Given the description of an element on the screen output the (x, y) to click on. 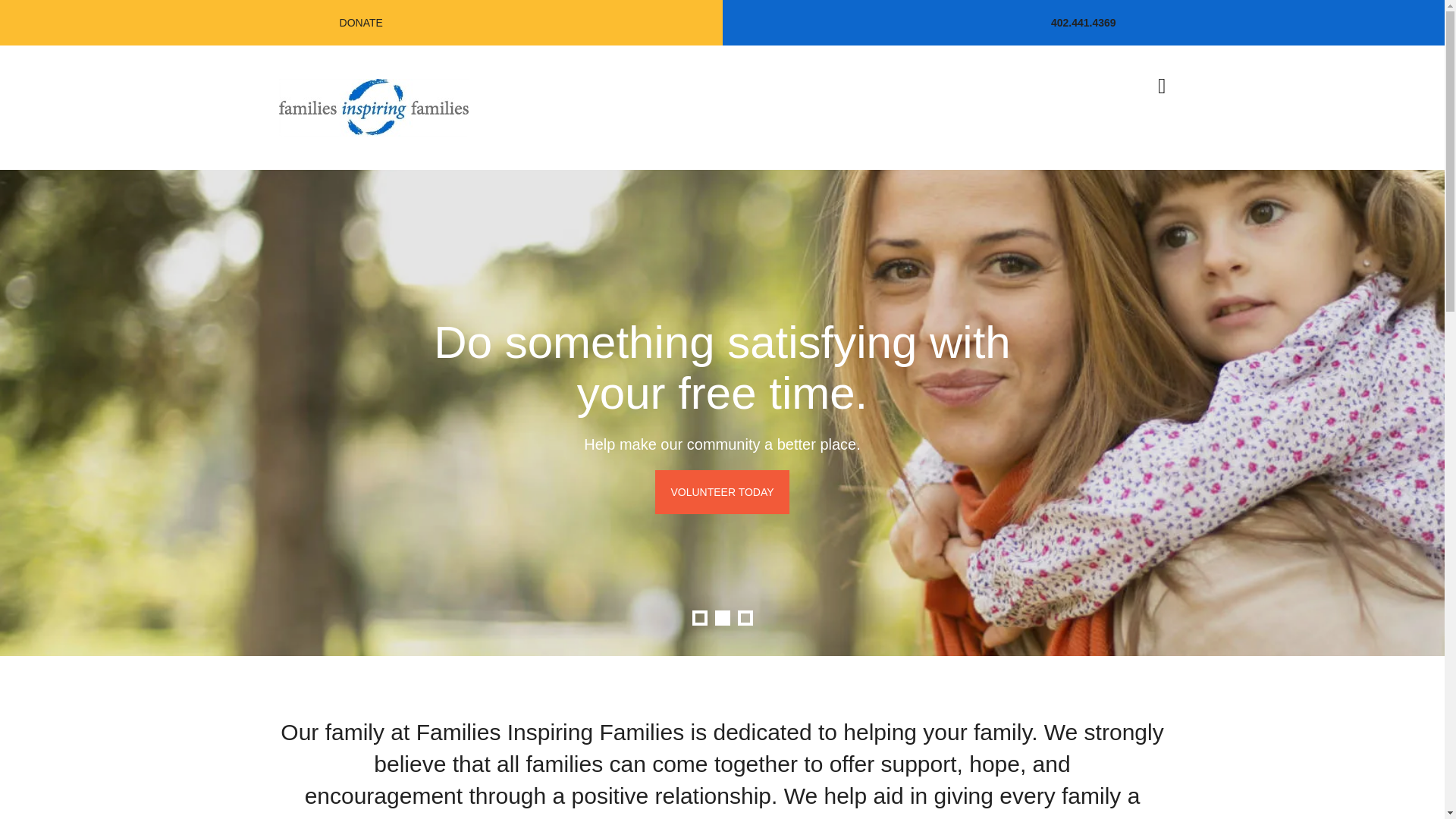
402.441.4369 (1083, 22)
DONATE (361, 22)
logo (373, 107)
